Given the description of an element on the screen output the (x, y) to click on. 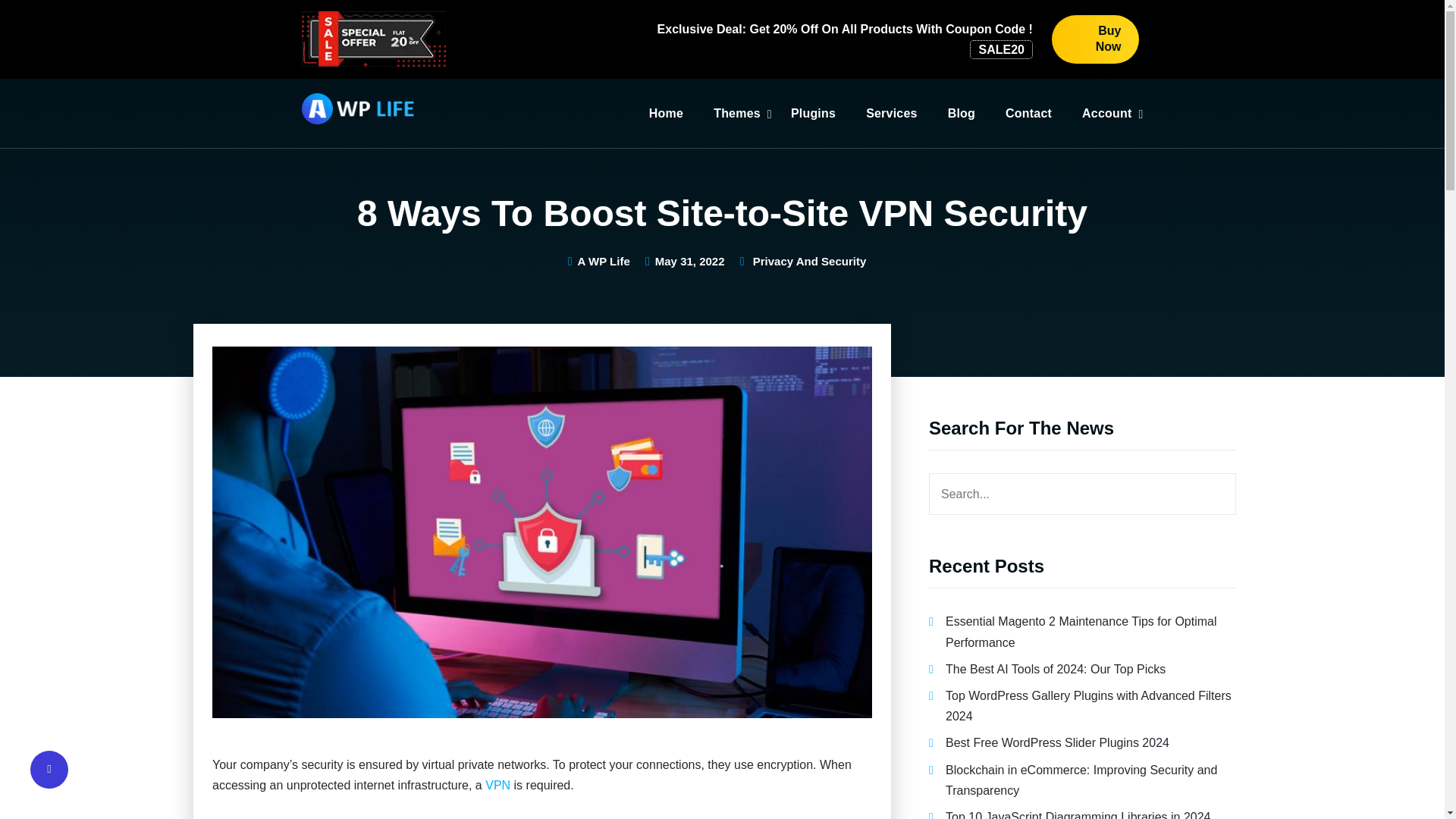
VPN (497, 784)
Services (891, 113)
Contact (1028, 113)
Home (665, 113)
Buy Now (1095, 39)
Plugins (812, 113)
Best Free WordPress Slider Plugins 2024 (1056, 742)
Top WordPress Gallery Plugins with Advanced Filters 2024 (1087, 705)
Themes (736, 113)
Blockchain in eCommerce: Improving Security and Transparency (1080, 779)
Account (1106, 113)
The Best AI Tools of 2024: Our Top Picks (1055, 668)
Top 10 JavaScript Diagramming Libraries in 2024 (1077, 814)
Essential Magento 2 Maintenance Tips for Optimal Performance (1080, 631)
Blog (961, 113)
